Given the description of an element on the screen output the (x, y) to click on. 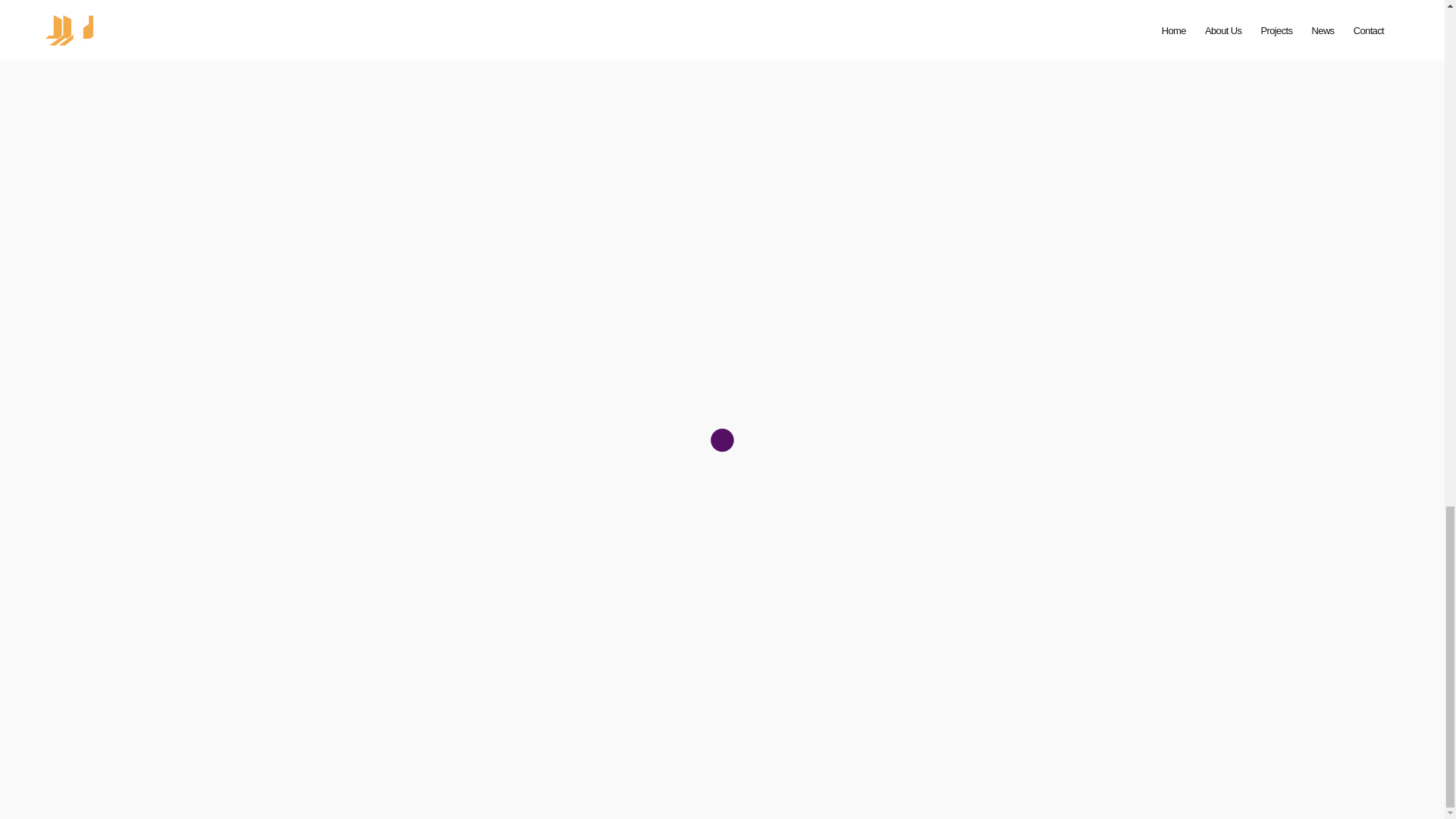
Team Works (240, 697)
BACK TO ALL PROJECTS (240, 697)
BAM RFP (721, 697)
SHARE (1203, 697)
